Given the description of an element on the screen output the (x, y) to click on. 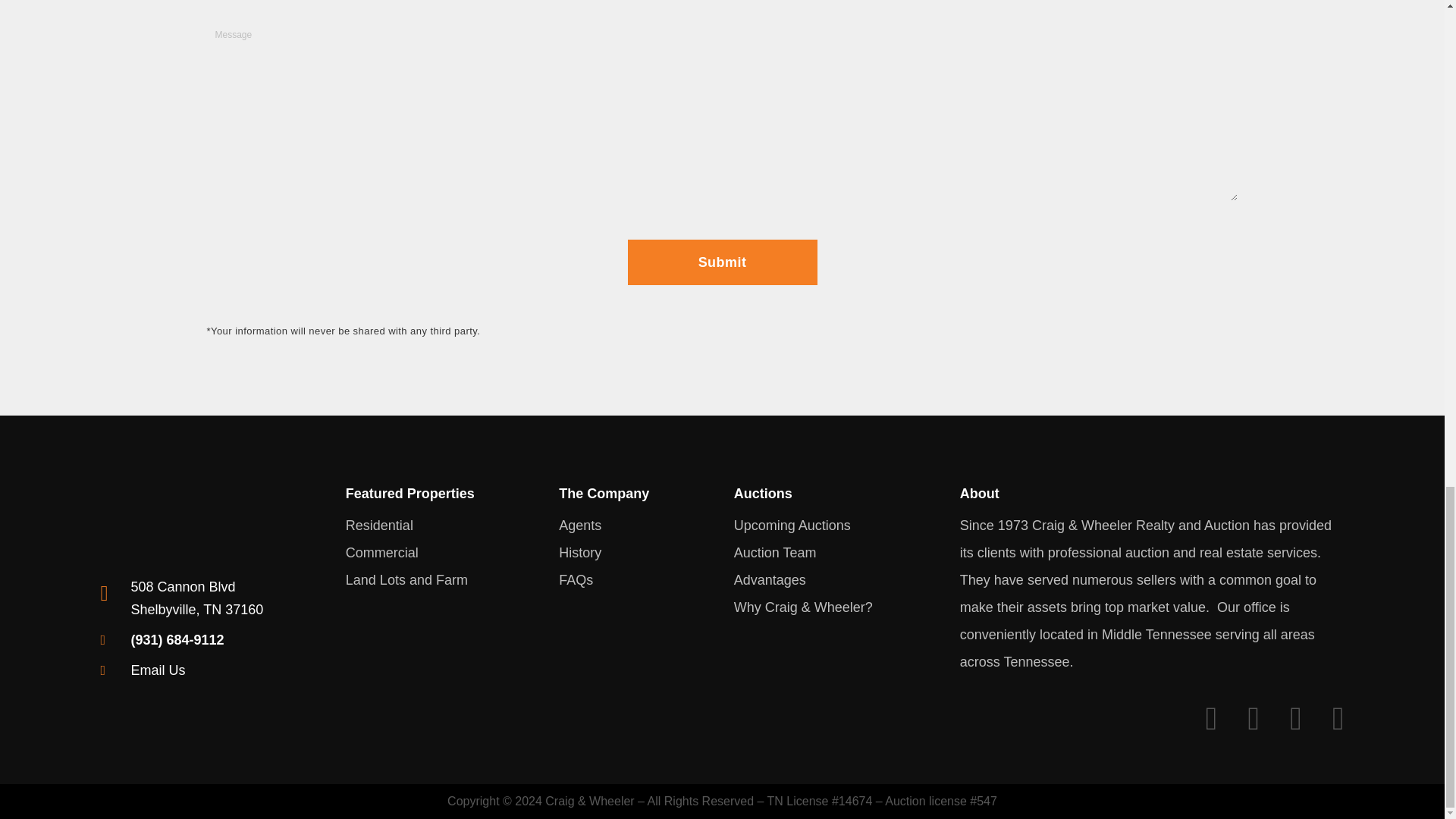
Submit (721, 262)
Land Lots and Farm (410, 580)
Commercial (197, 598)
Featured Properties (410, 552)
Email Us (410, 493)
The Company (157, 670)
Residential (604, 493)
